Given the description of an element on the screen output the (x, y) to click on. 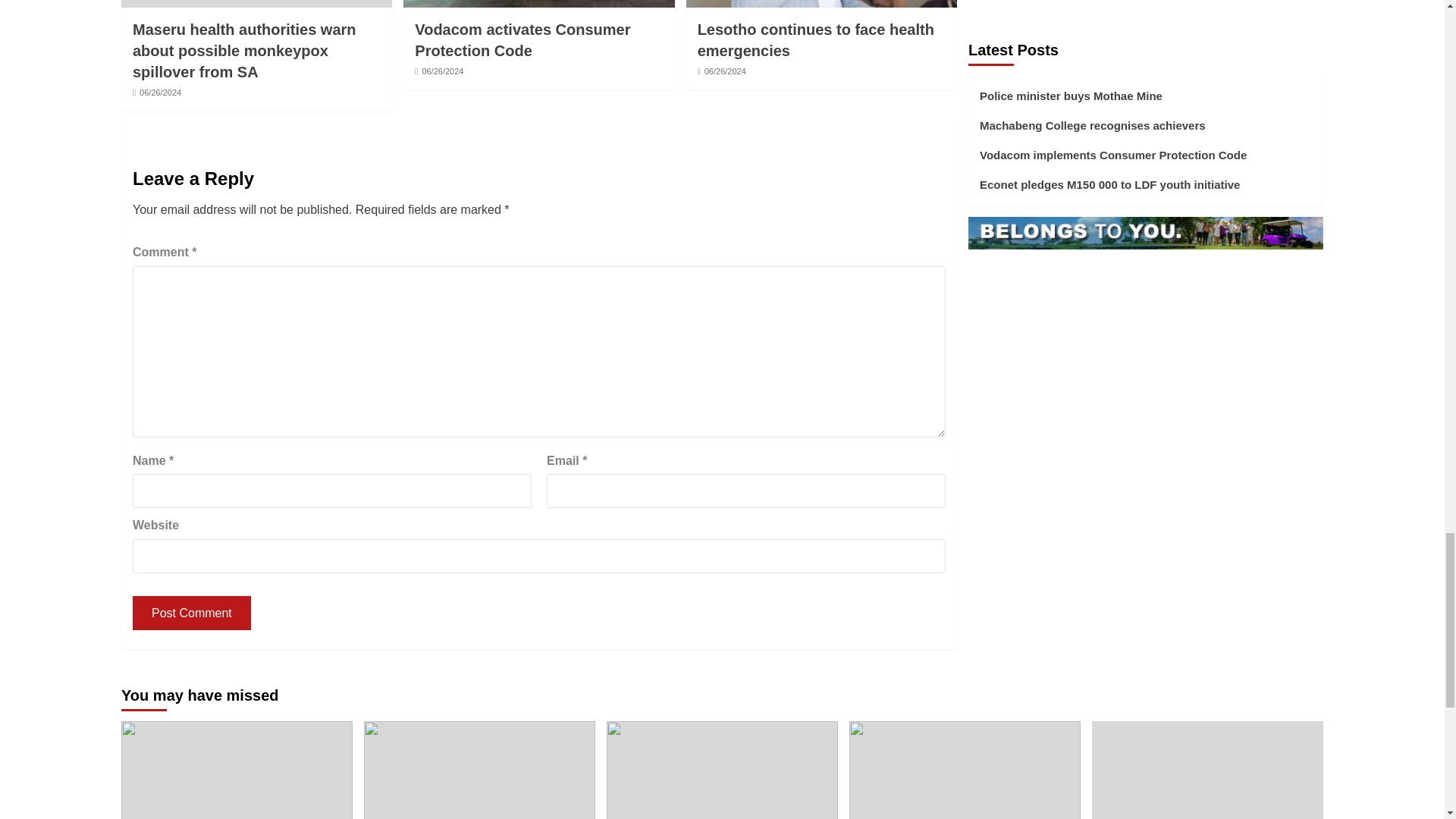
Post Comment (191, 612)
